Given the description of an element on the screen output the (x, y) to click on. 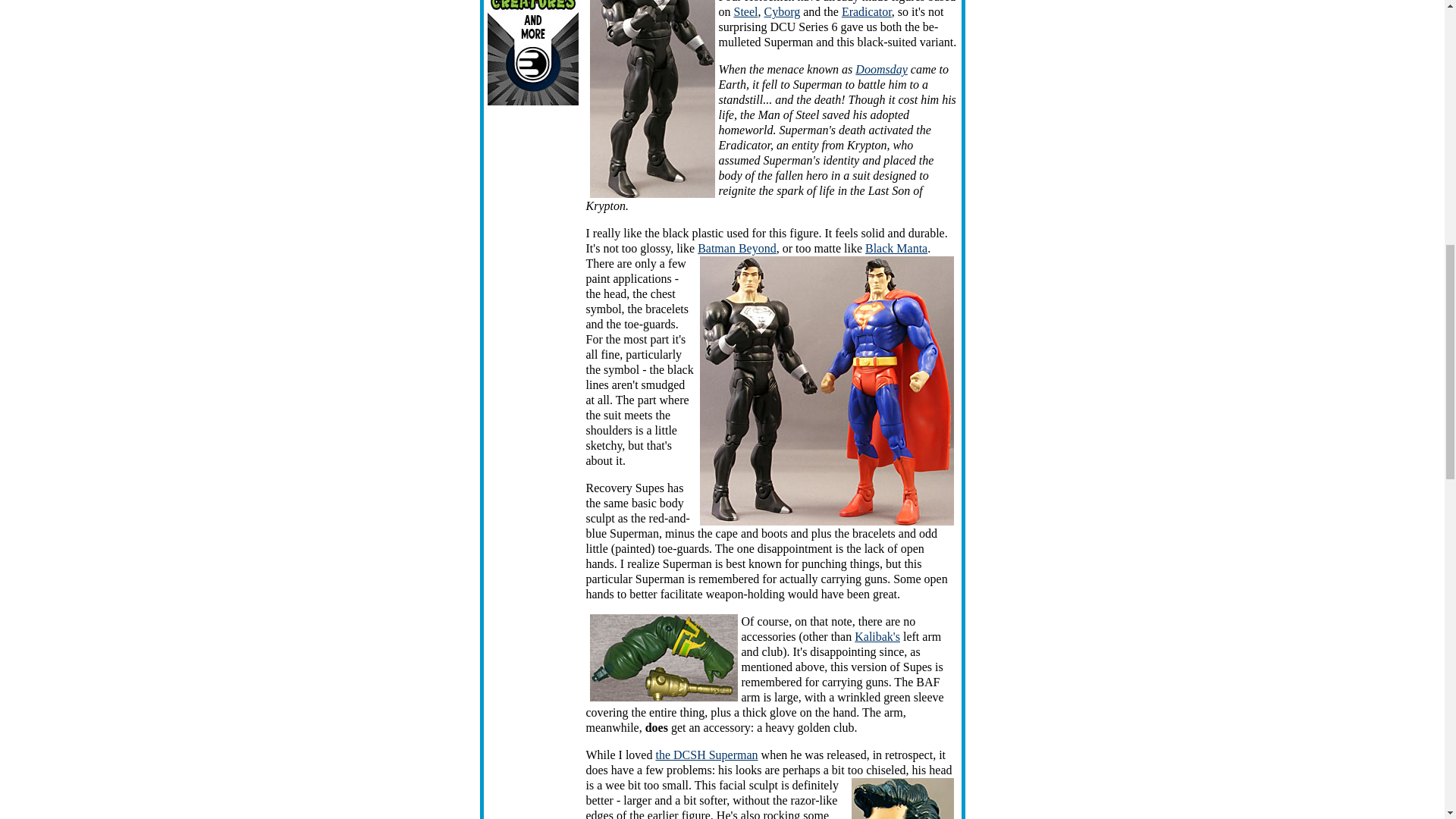
Kalibak's (876, 635)
Steel (745, 11)
Maybe Superman ripped it off him? (663, 657)
Black Manta (895, 247)
Cyborg (782, 11)
Supermullet (901, 798)
we're edgy, kids! (825, 390)
Recovery Suit Superman (651, 99)
Batman Beyond (736, 247)
Doomsday (881, 69)
Eradicator (866, 11)
